Given the description of an element on the screen output the (x, y) to click on. 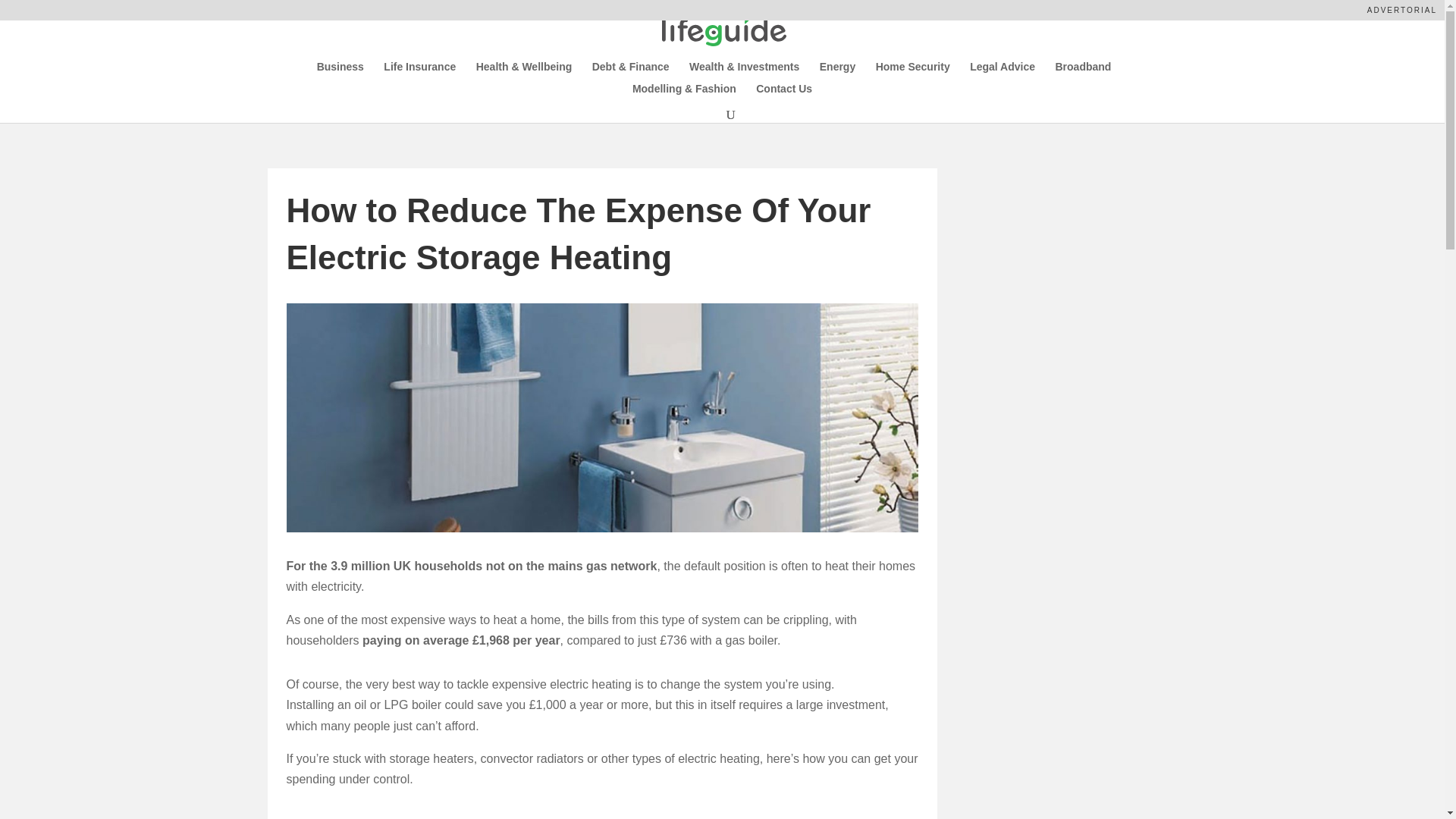
Broadband (1082, 72)
Energy (837, 72)
Life Insurance (419, 72)
Contact Us (783, 94)
Business (340, 72)
Home Security (913, 72)
Legal Advice (1002, 72)
